Given the description of an element on the screen output the (x, y) to click on. 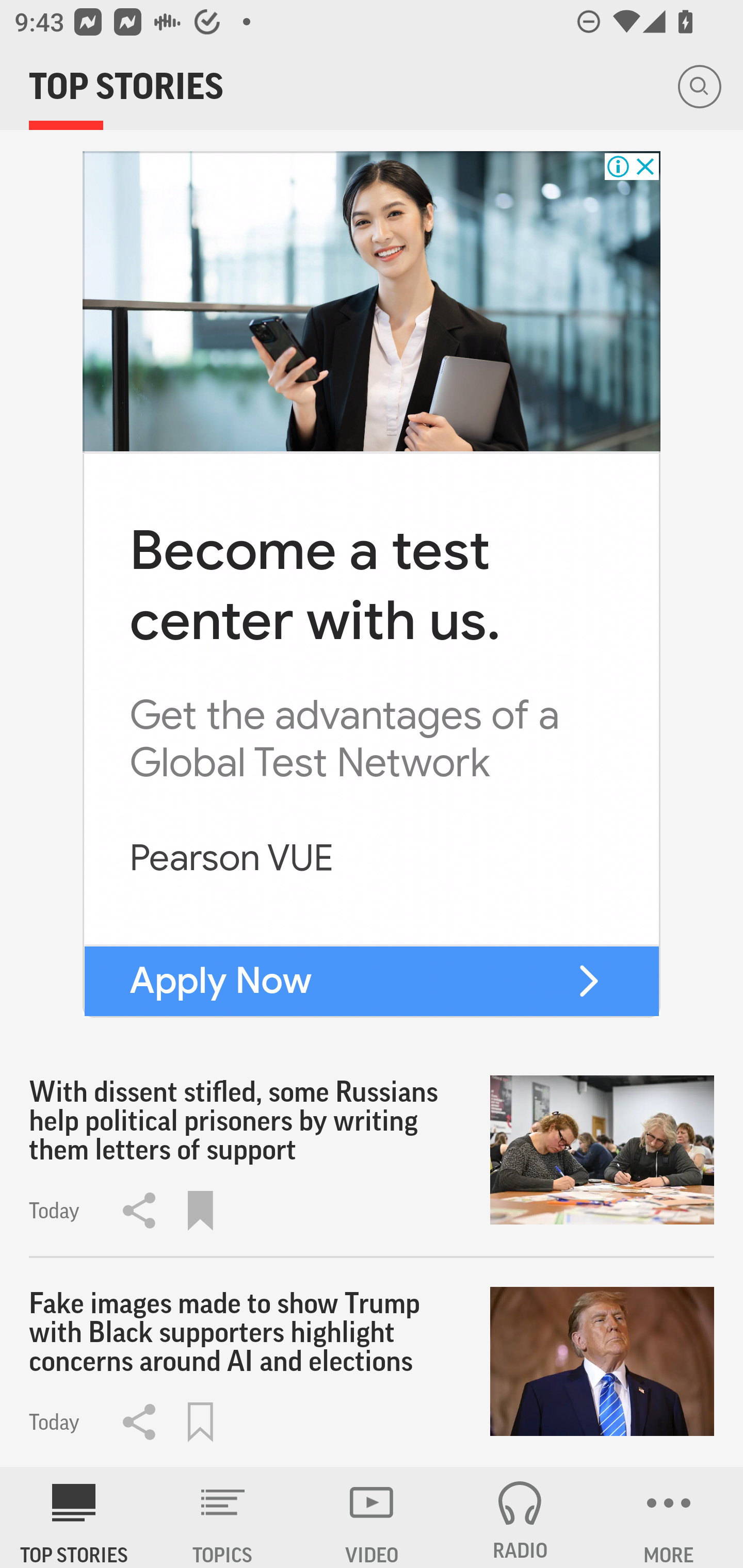
Become-a-test-center (371, 300)
Pearson VUE (232, 857)
Become-a-test-center (588, 981)
Apply Now (221, 980)
AP News TOP STORIES (74, 1517)
TOPICS (222, 1517)
VIDEO (371, 1517)
RADIO (519, 1517)
MORE (668, 1517)
